Given the description of an element on the screen output the (x, y) to click on. 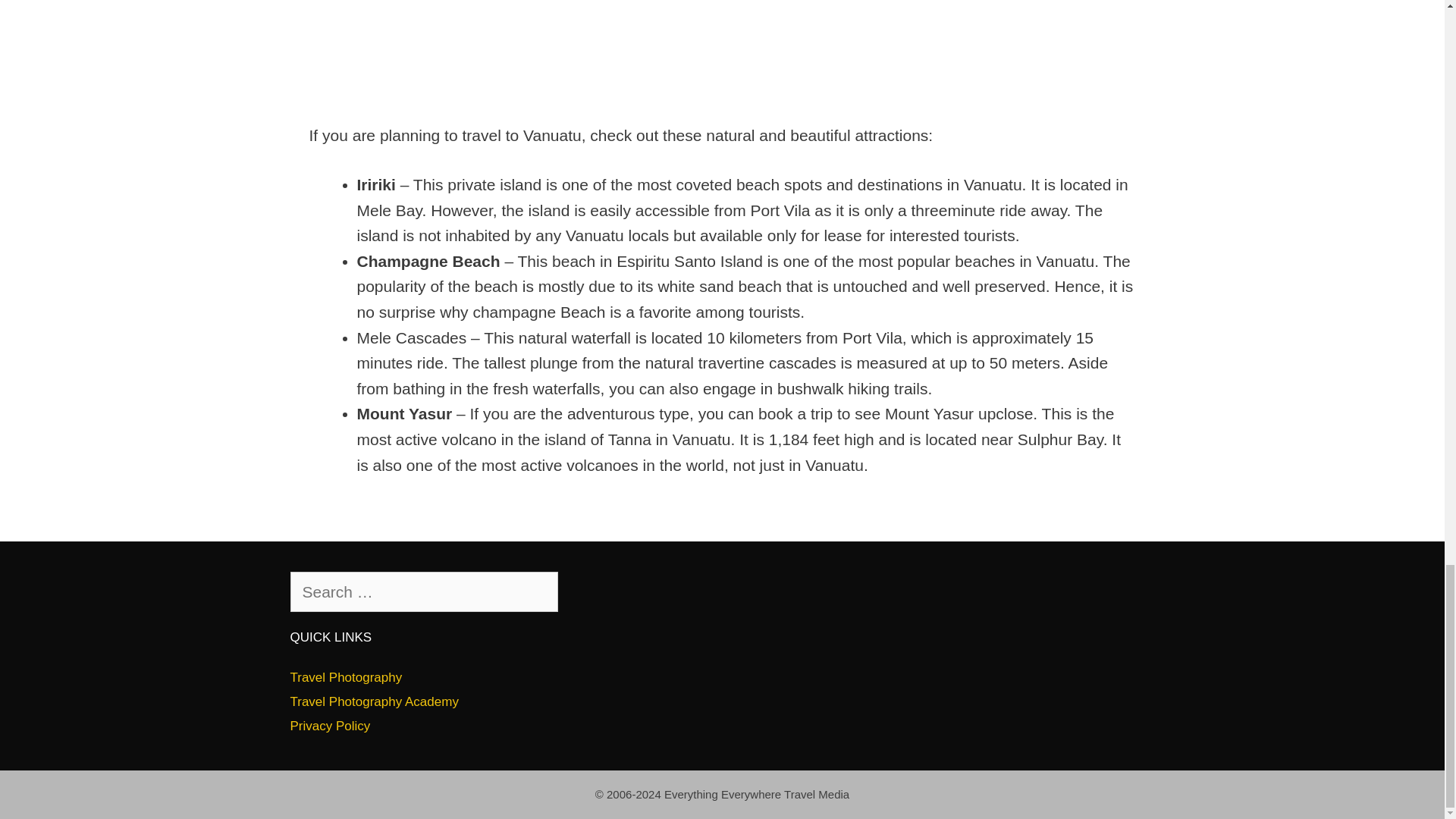
Travel Photography Academy (373, 701)
Privacy Policy (329, 726)
Travel Photography (345, 677)
Search for: (423, 591)
